Given the description of an element on the screen output the (x, y) to click on. 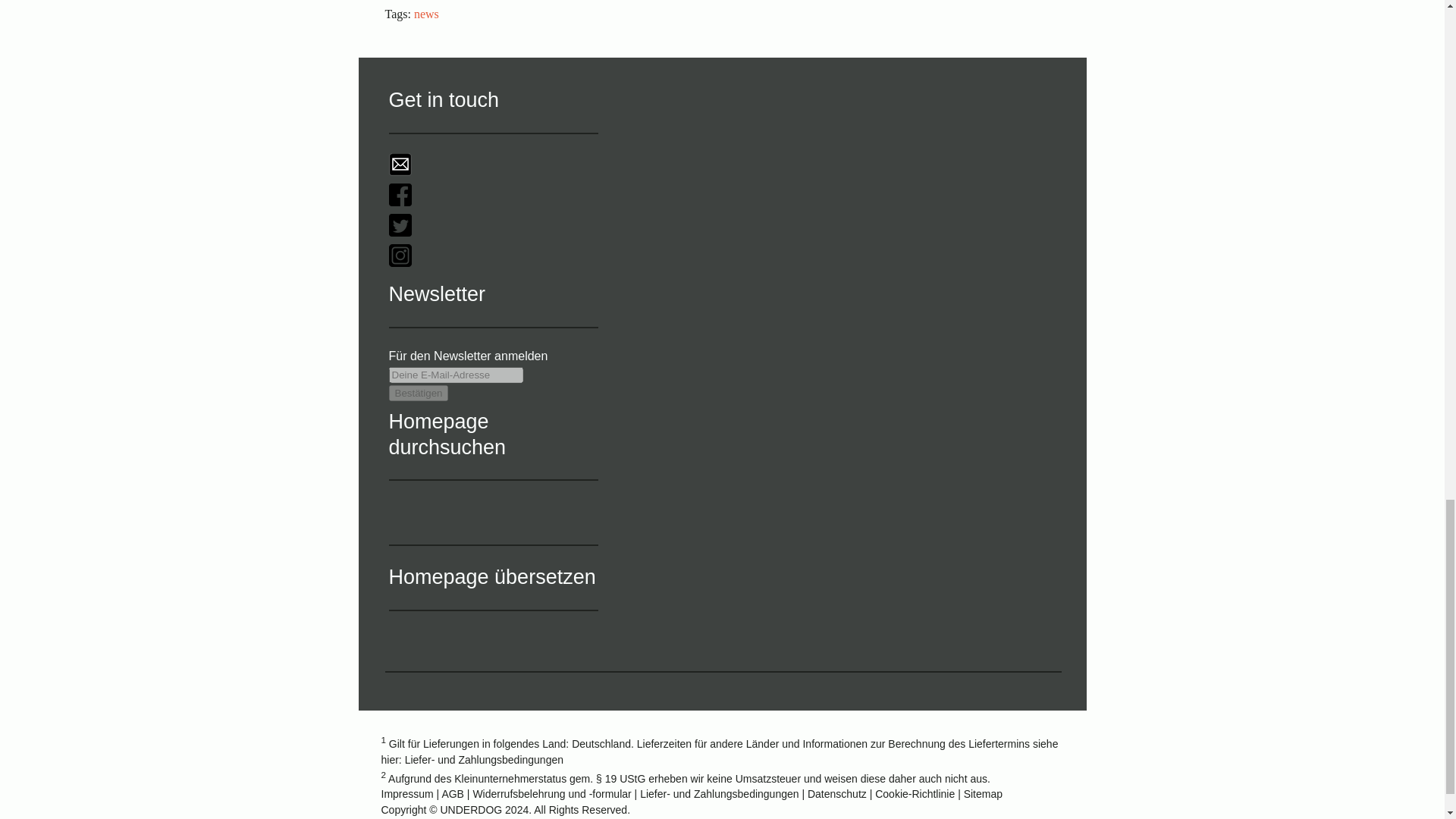
news (426, 13)
